Given the description of an element on the screen output the (x, y) to click on. 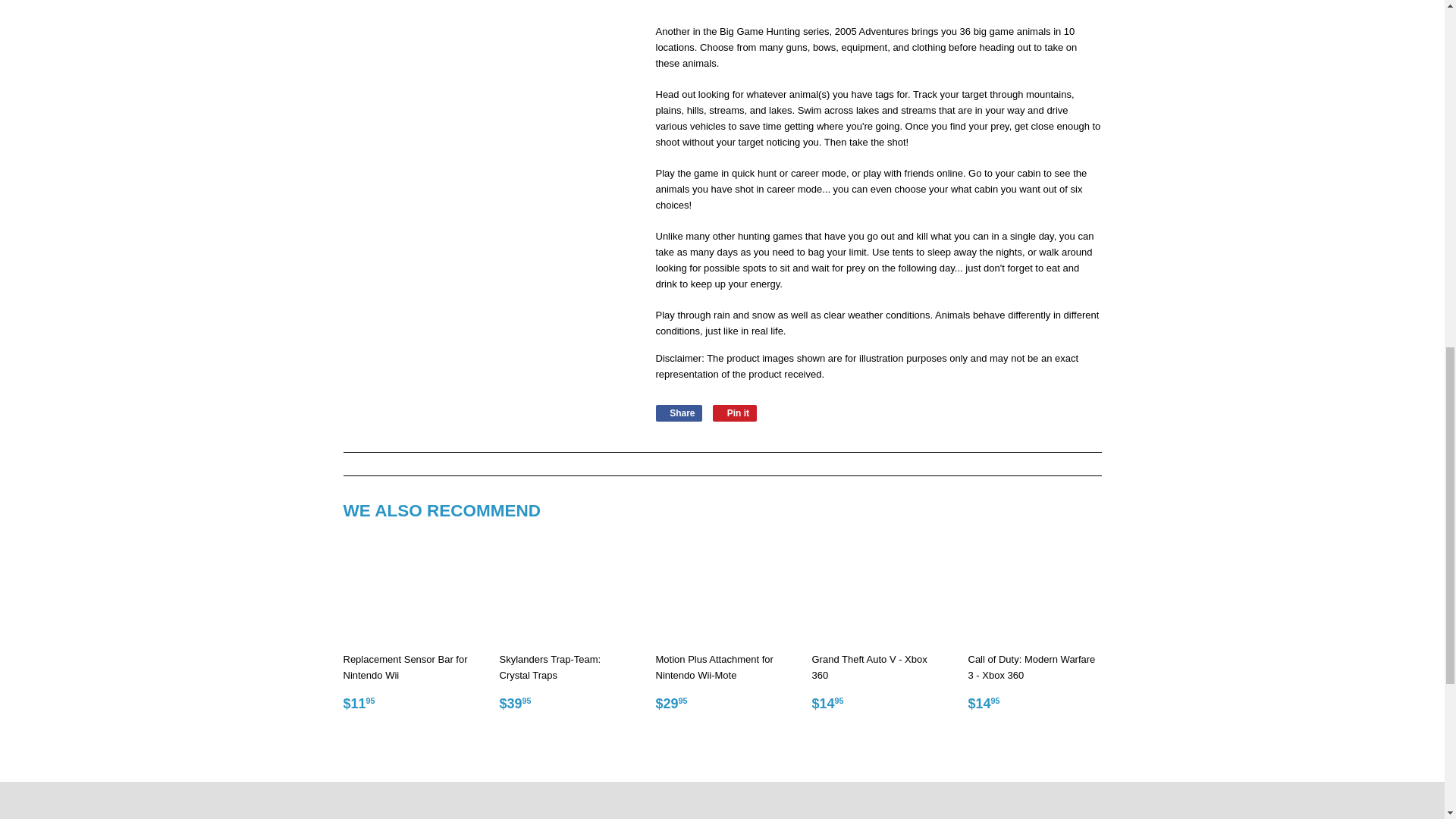
Share on Facebook (678, 412)
Pin on Pinterest (735, 412)
